Given the description of an element on the screen output the (x, y) to click on. 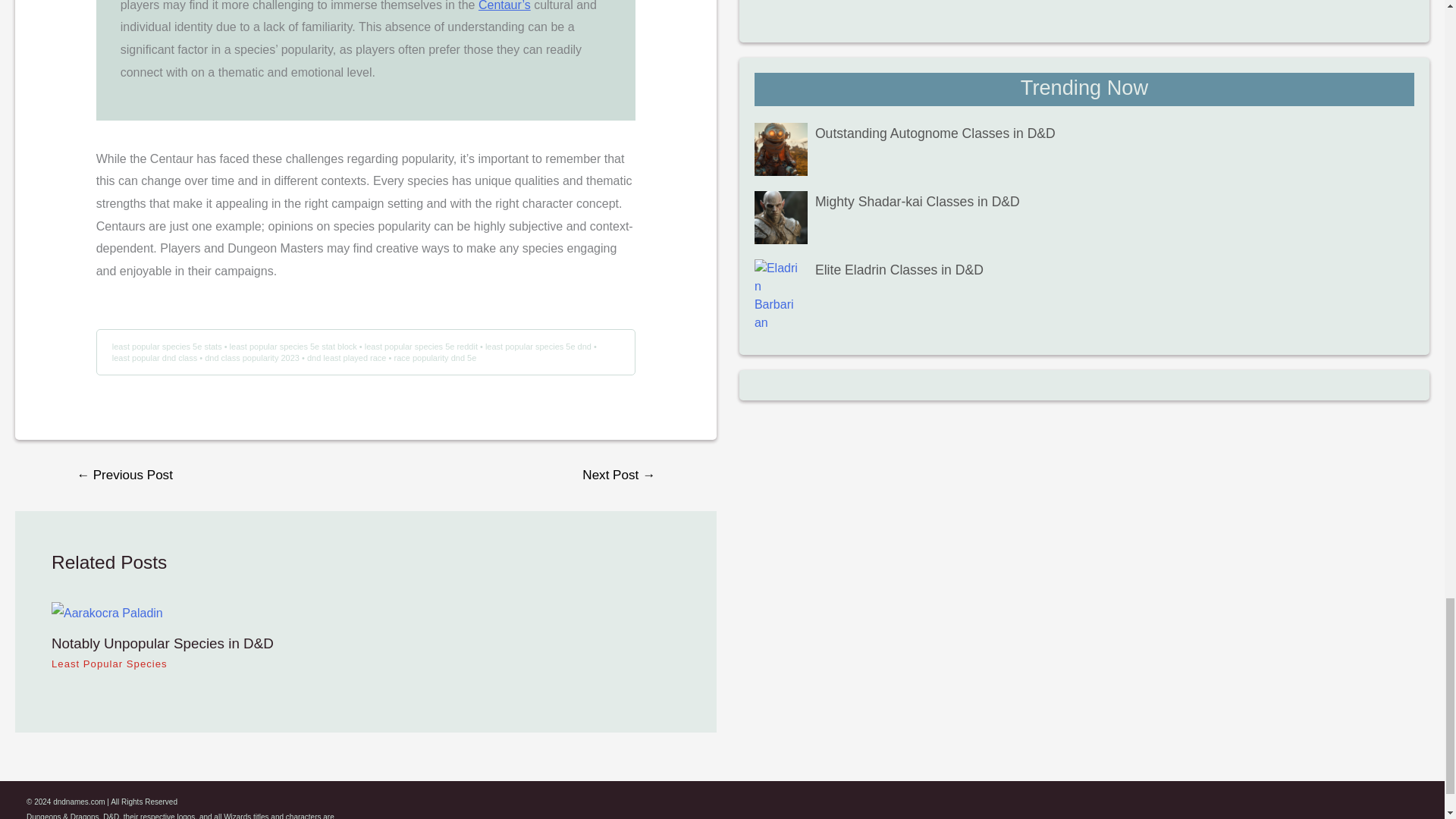
Share to Email (1402, 810)
Share to Twitter (1311, 810)
Share to Facebook (1342, 810)
Follow on Instagram (1281, 810)
Share on Reddit (1371, 810)
